Given the description of an element on the screen output the (x, y) to click on. 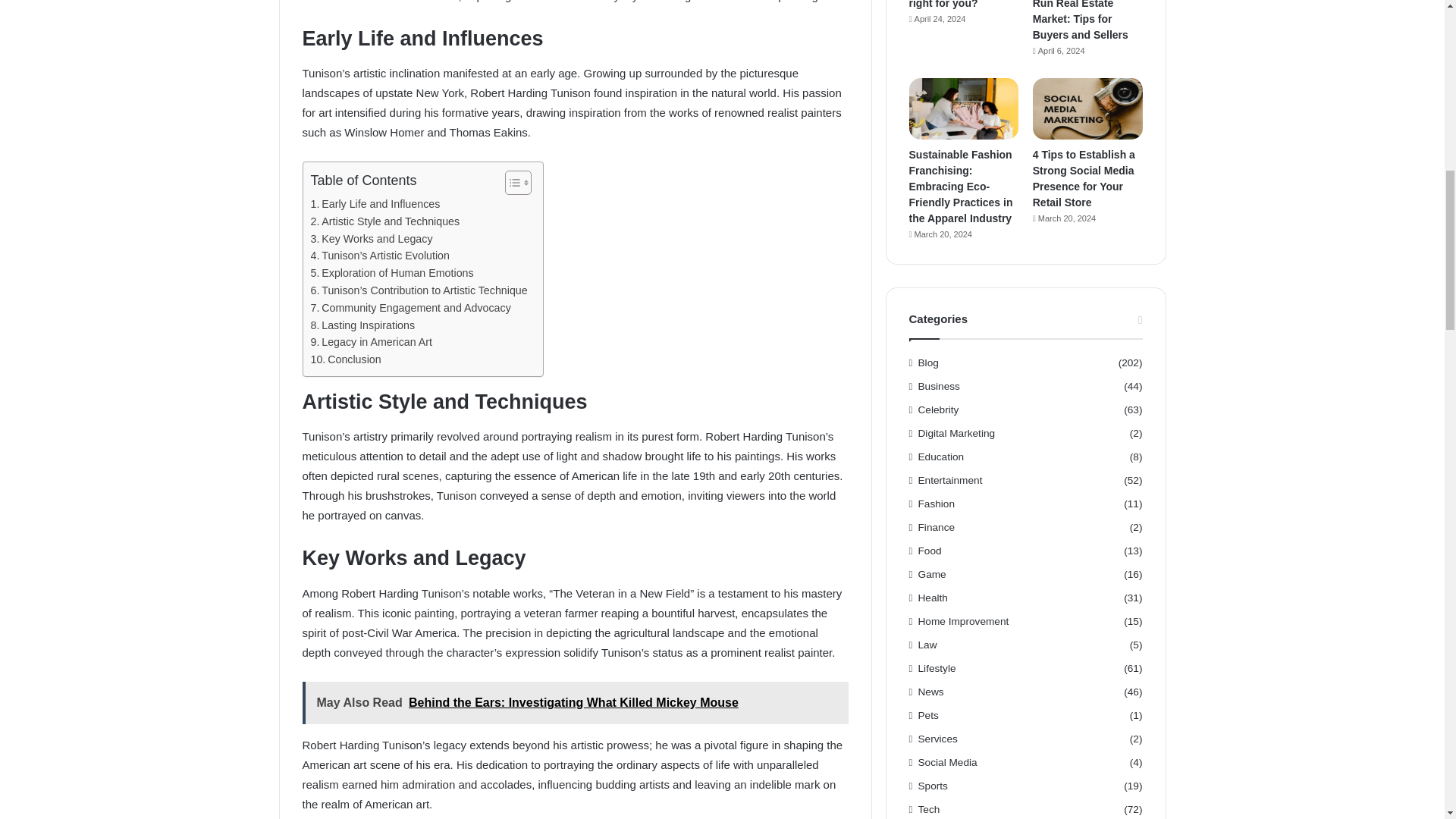
Legacy in American Art (371, 342)
Legacy in American Art (371, 342)
Key Works and Legacy (371, 239)
Early Life and Influences (376, 203)
Exploration of Human Emotions (392, 272)
Early Life and Influences (376, 203)
Conclusion (346, 359)
Community Engagement and Advocacy (411, 307)
Artistic Style and Techniques (385, 221)
Community Engagement and Advocacy (411, 307)
Key Works and Legacy (371, 239)
Conclusion (346, 359)
Lasting Inspirations (362, 325)
Lasting Inspirations (362, 325)
